Given the description of an element on the screen output the (x, y) to click on. 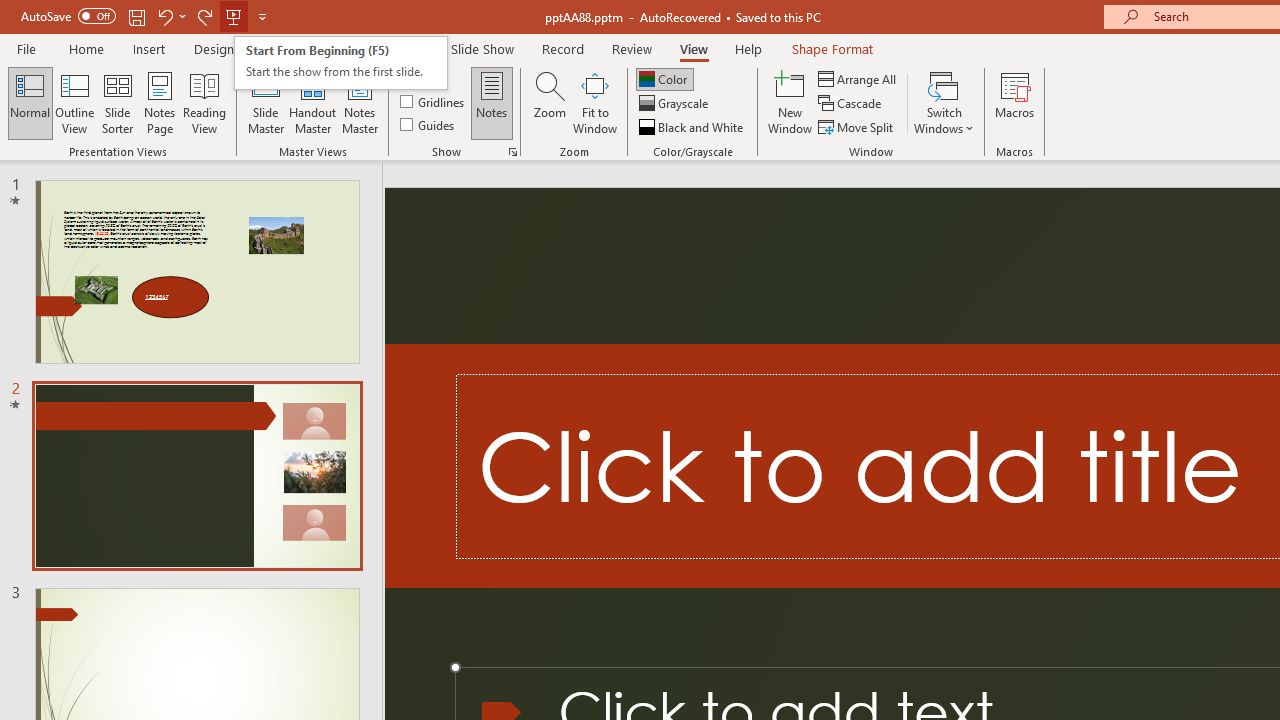
Black and White (693, 126)
Grid Settings... (512, 151)
Slide Master (265, 102)
